Given the description of an element on the screen output the (x, y) to click on. 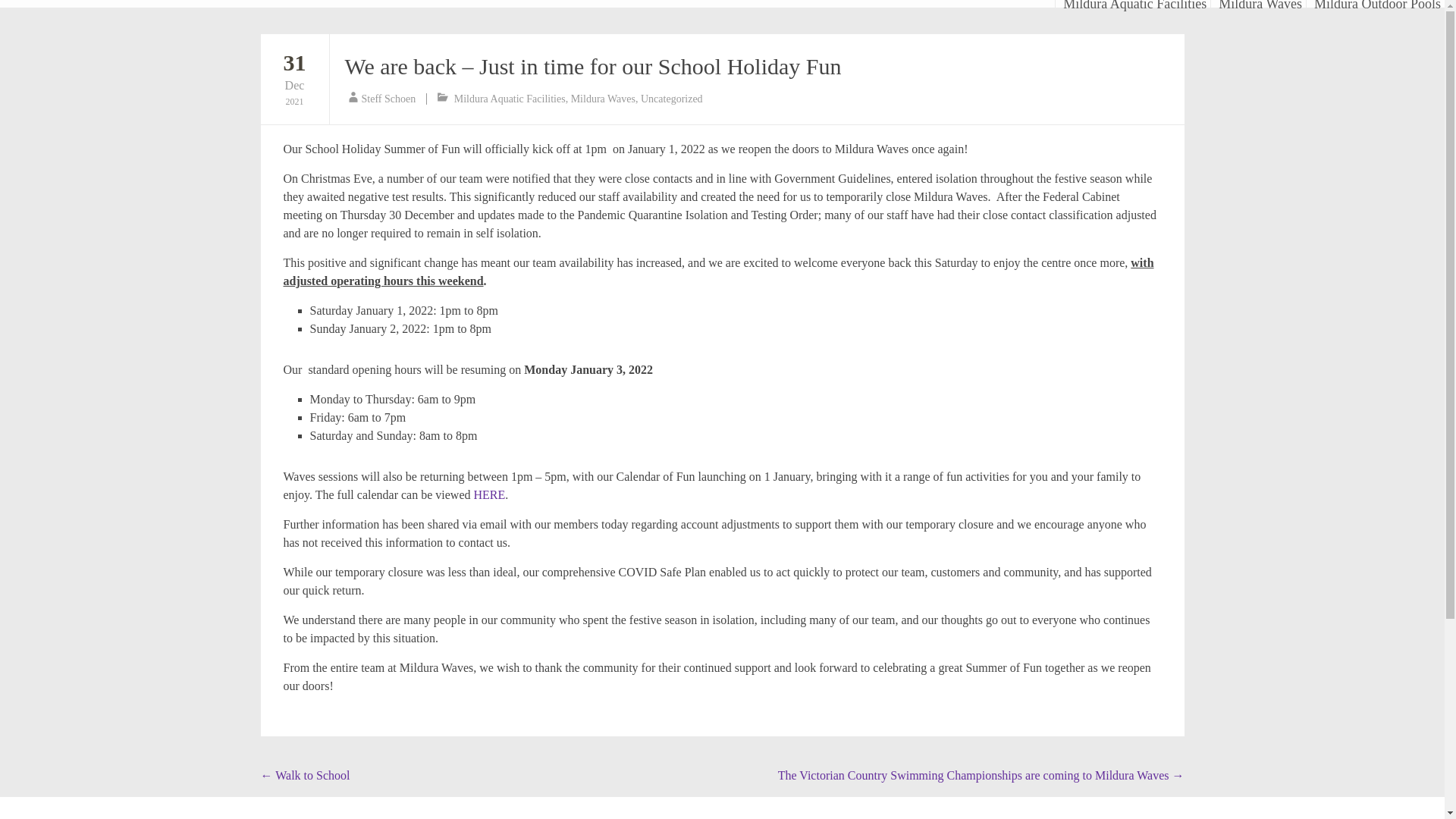
Mildura Aquatic Facilities (1134, 3)
Skip to content (294, 78)
Mildura Waves (1058, 3)
Uncategorized (1260, 3)
Mildura Waves (671, 98)
1:11 pm (602, 98)
Steff Schoen (294, 78)
Mildura Aquatic Facilities (387, 98)
HERE (510, 98)
